Given the description of an element on the screen output the (x, y) to click on. 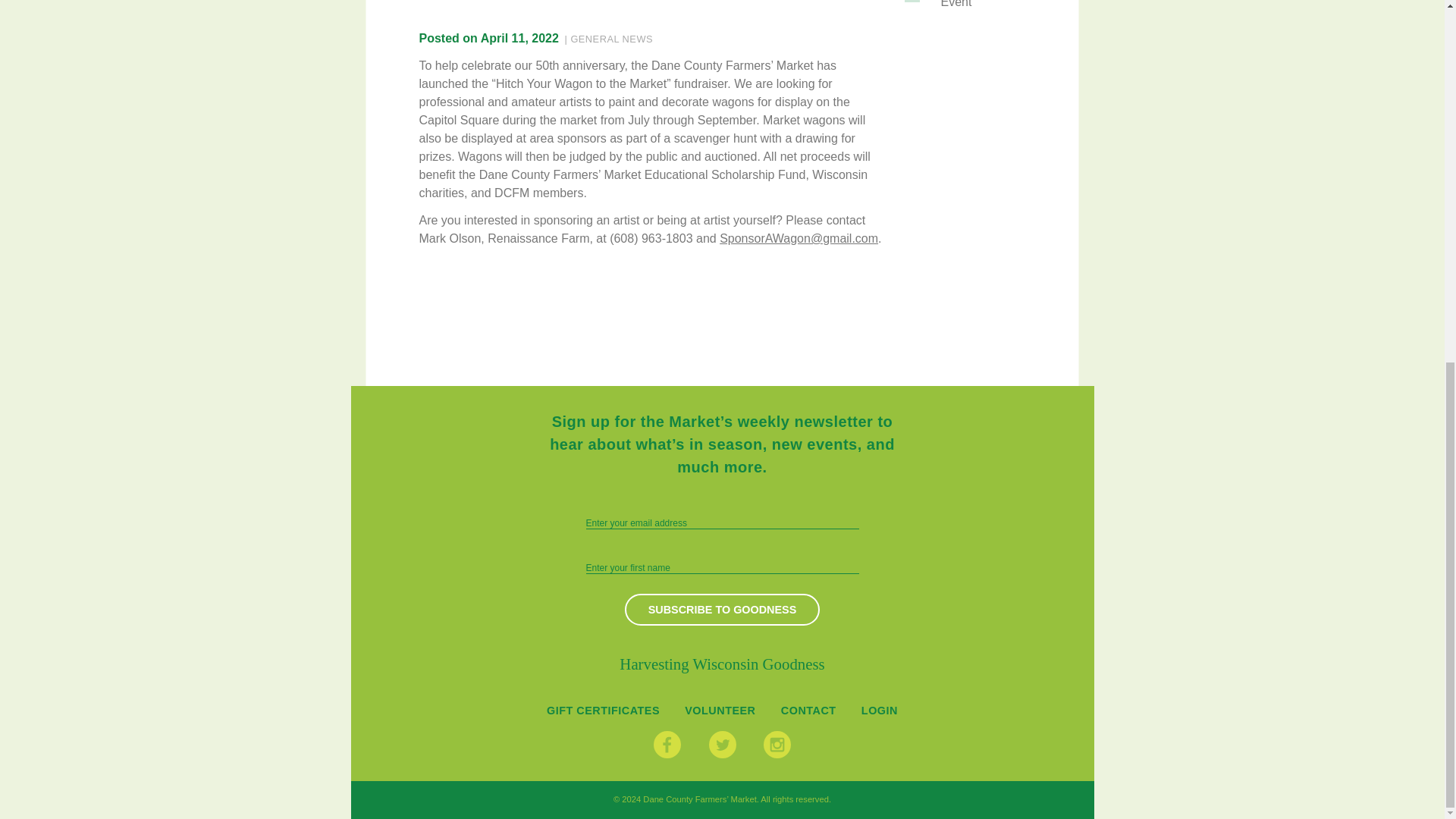
Instagram (776, 744)
Event (987, 7)
Volunteer (719, 710)
Subscribe to Goodness (721, 609)
LOGIN (879, 710)
CONTACT (807, 710)
Event (987, 7)
Facebook (667, 744)
GIFT CERTIFICATES (603, 710)
Gift Certificates (603, 710)
